Given the description of an element on the screen output the (x, y) to click on. 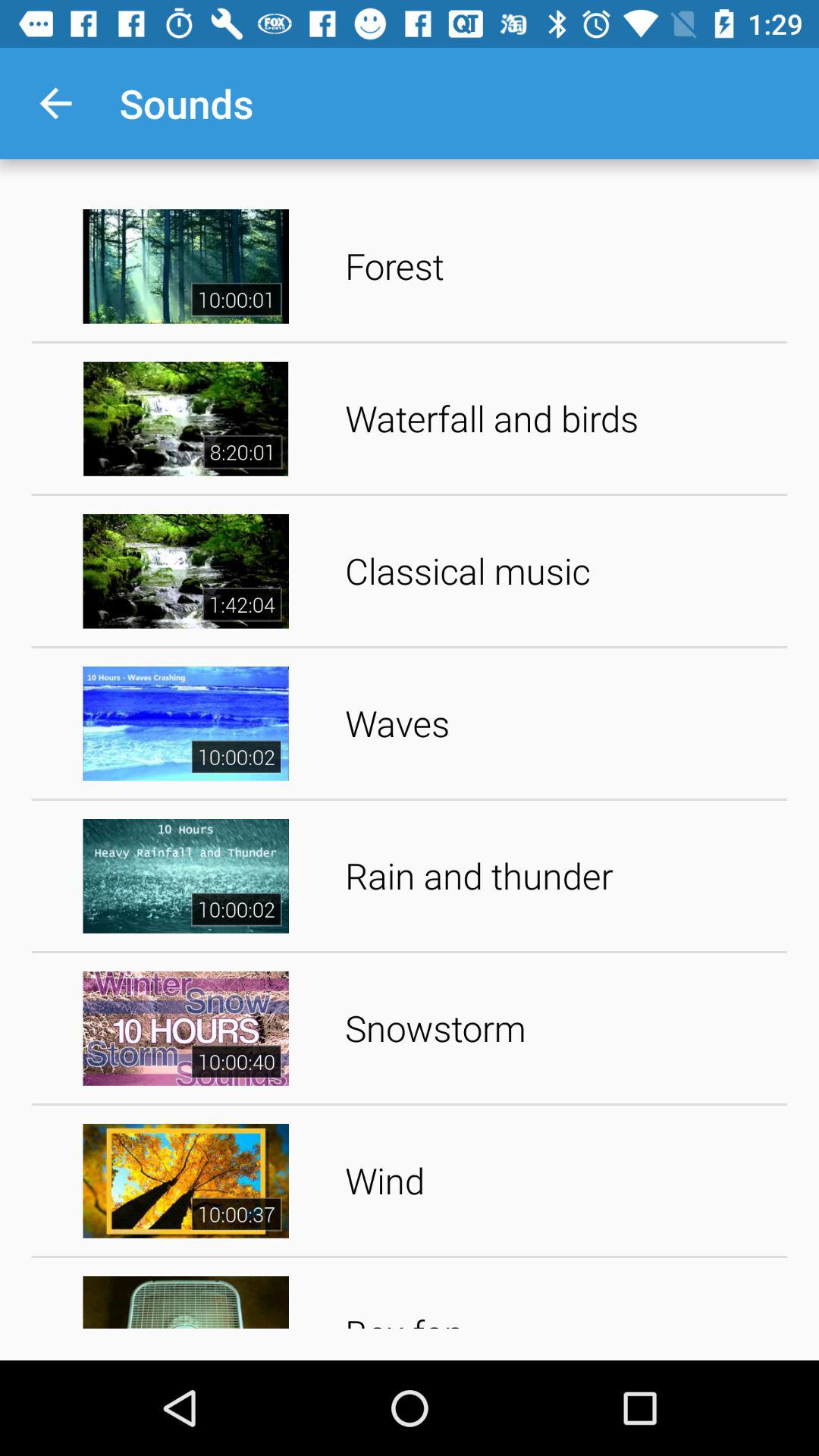
launch item above snowstorm icon (560, 875)
